Given the description of an element on the screen output the (x, y) to click on. 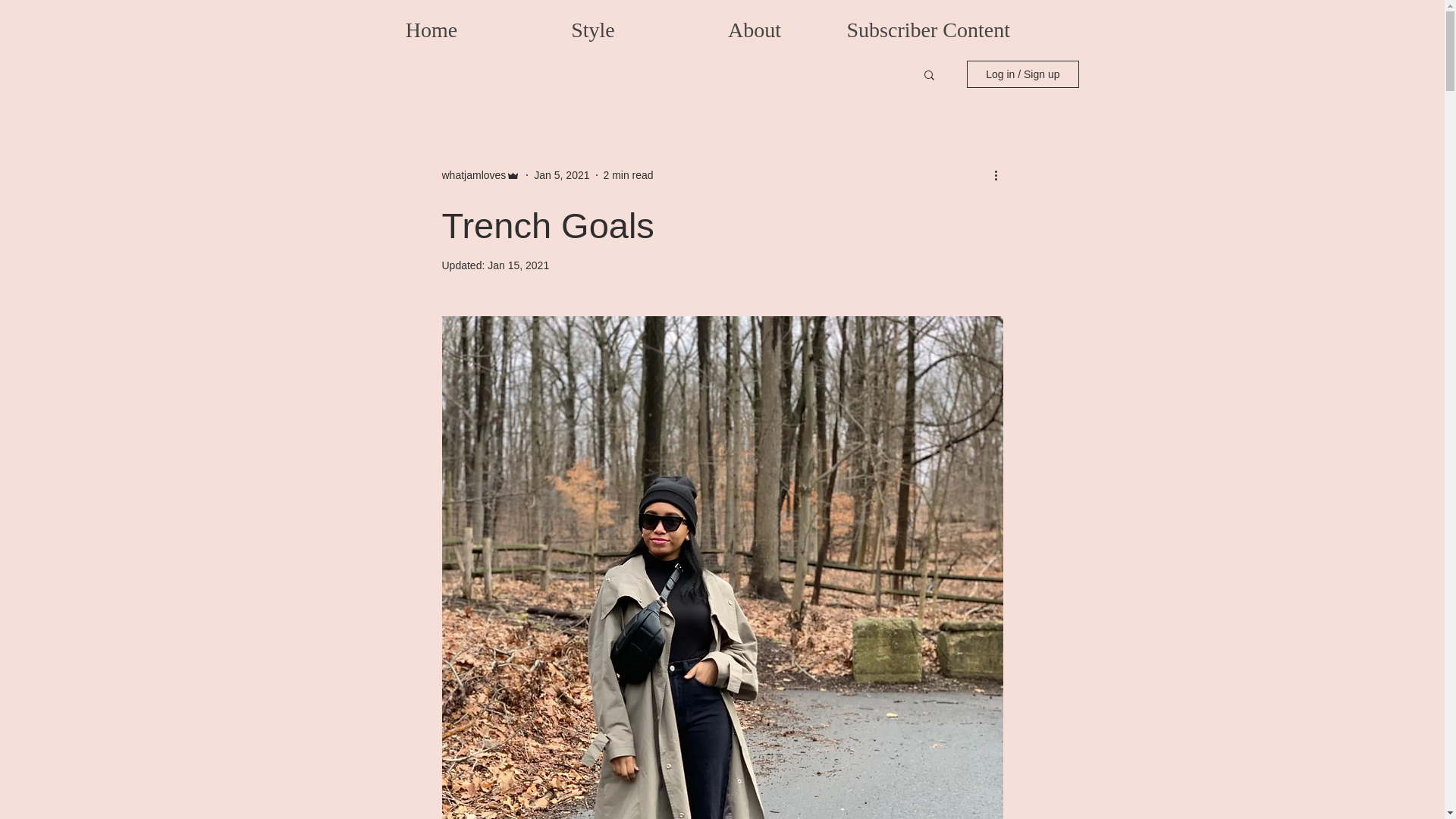
whatjamloves (473, 174)
About (753, 27)
Jan 5, 2021 (561, 174)
2 min read (628, 174)
Style (593, 27)
Home (431, 27)
Subscriber Content (916, 27)
Jan 15, 2021 (517, 265)
